Given the description of an element on the screen output the (x, y) to click on. 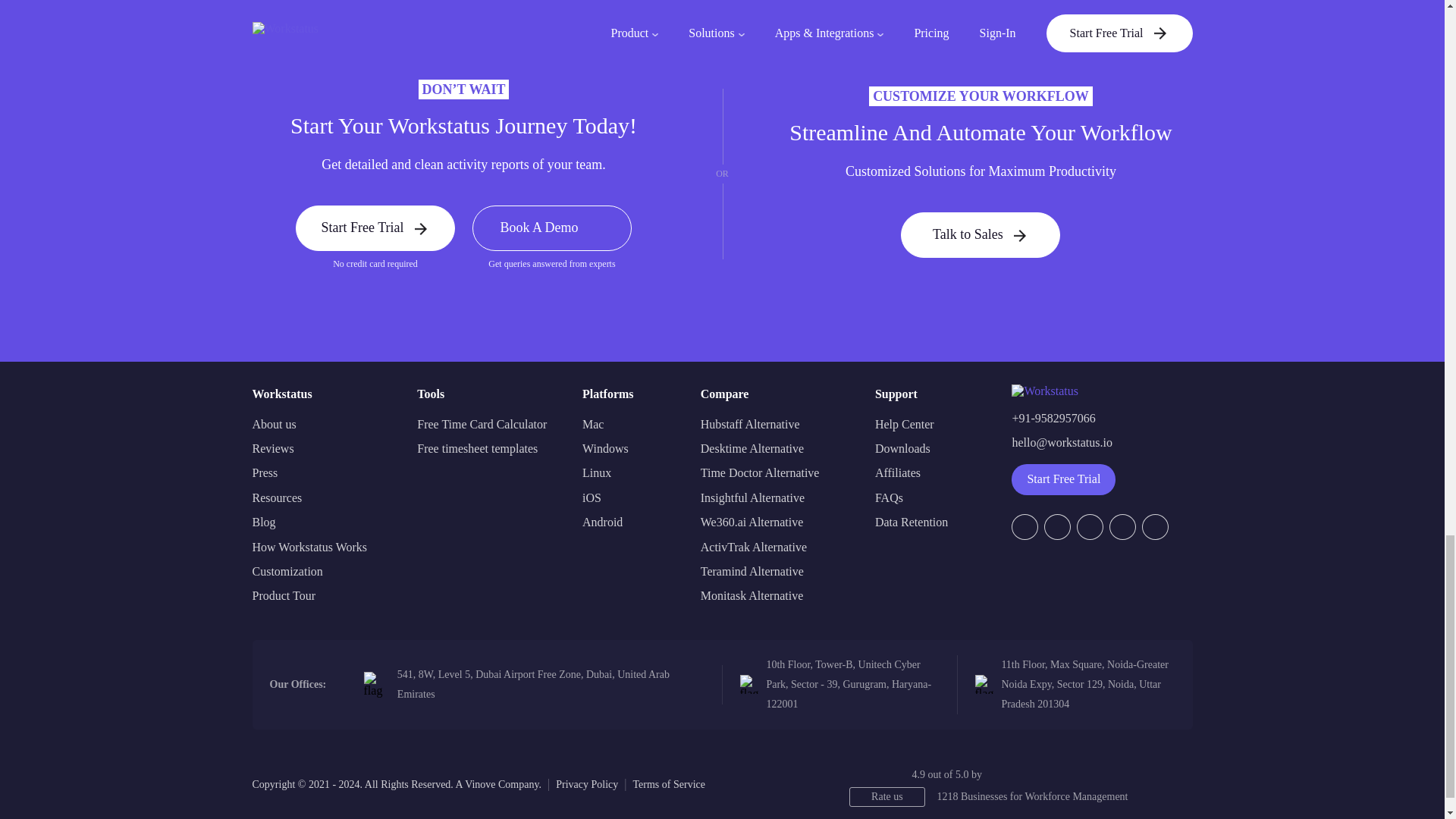
Workstatus (1044, 390)
